Given the description of an element on the screen output the (x, y) to click on. 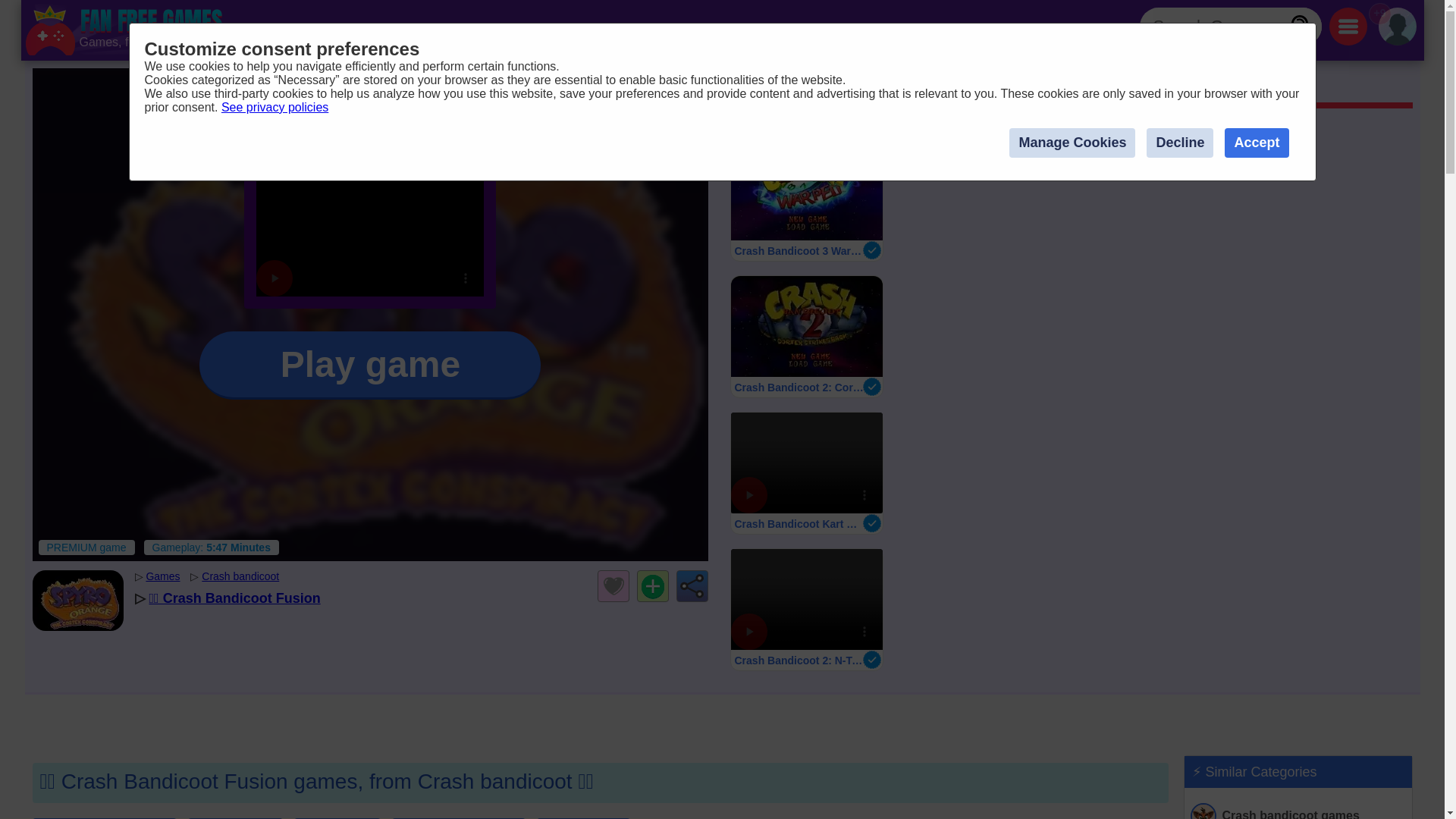
Free Crash bandicoot games (240, 576)
Crash Bandicoot 2: Cortex Strikes Back (805, 336)
Crash Bandicoot 3 Warped (805, 199)
Crash bandicoot (953, 87)
Games (240, 576)
Games, www.fanfreegames.com (162, 576)
Crash Bandicoot Kart Racing (126, 30)
Games (805, 472)
Manage Cookies (756, 87)
